Given the description of an element on the screen output the (x, y) to click on. 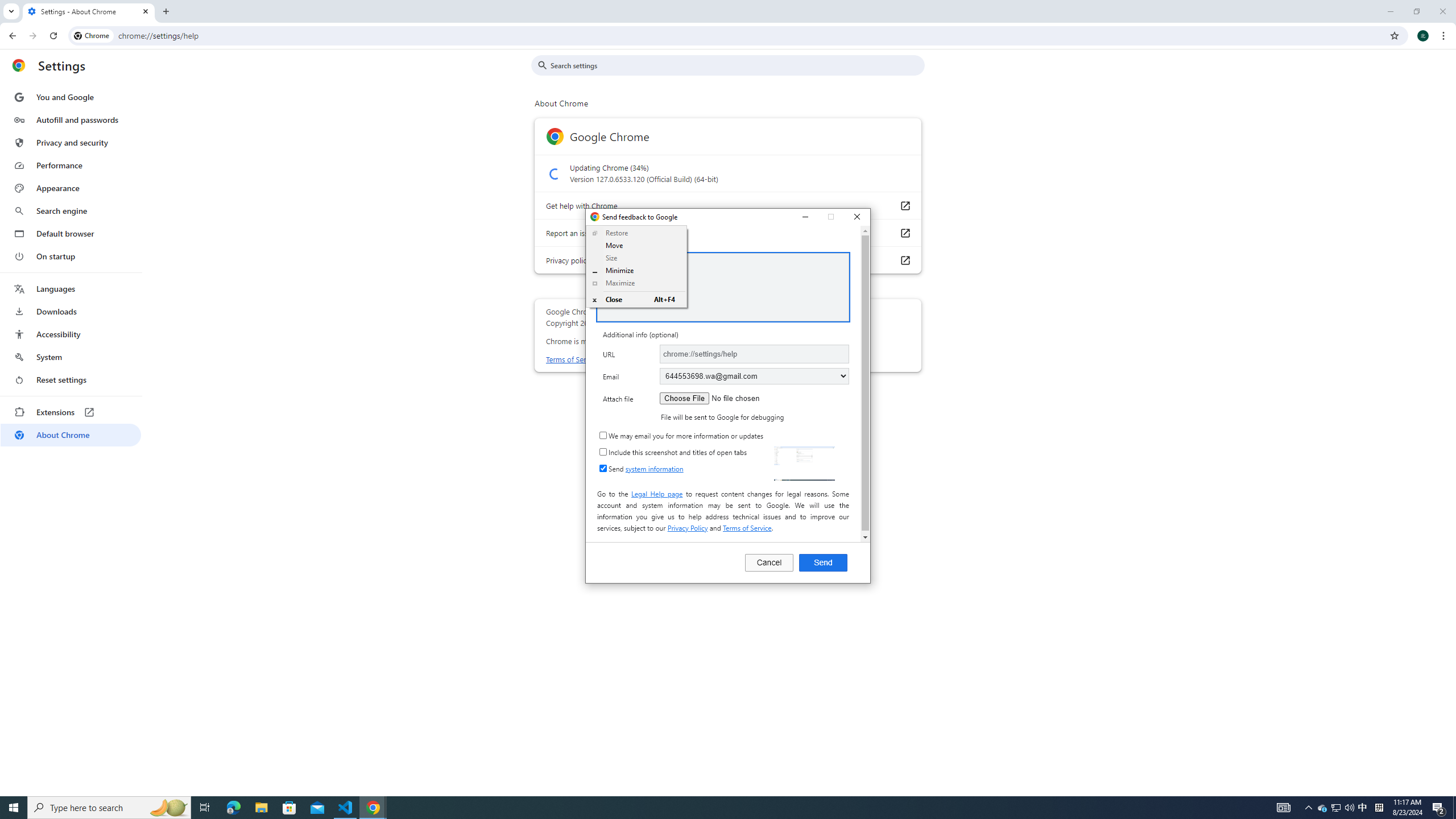
Autofill and passwords (70, 119)
Include this screenshot and titles of open tabs (603, 451)
Send (1322, 807)
Google Chrome - 2 running windows (823, 562)
Describe the issue in detail (373, 807)
Appearance (722, 287)
Microsoft Store (70, 187)
Search settings (289, 807)
About Chrome (735, 65)
AutomationID: menu (70, 434)
Screenshot of programs that are currently on the screen (1335, 807)
